Given the description of an element on the screen output the (x, y) to click on. 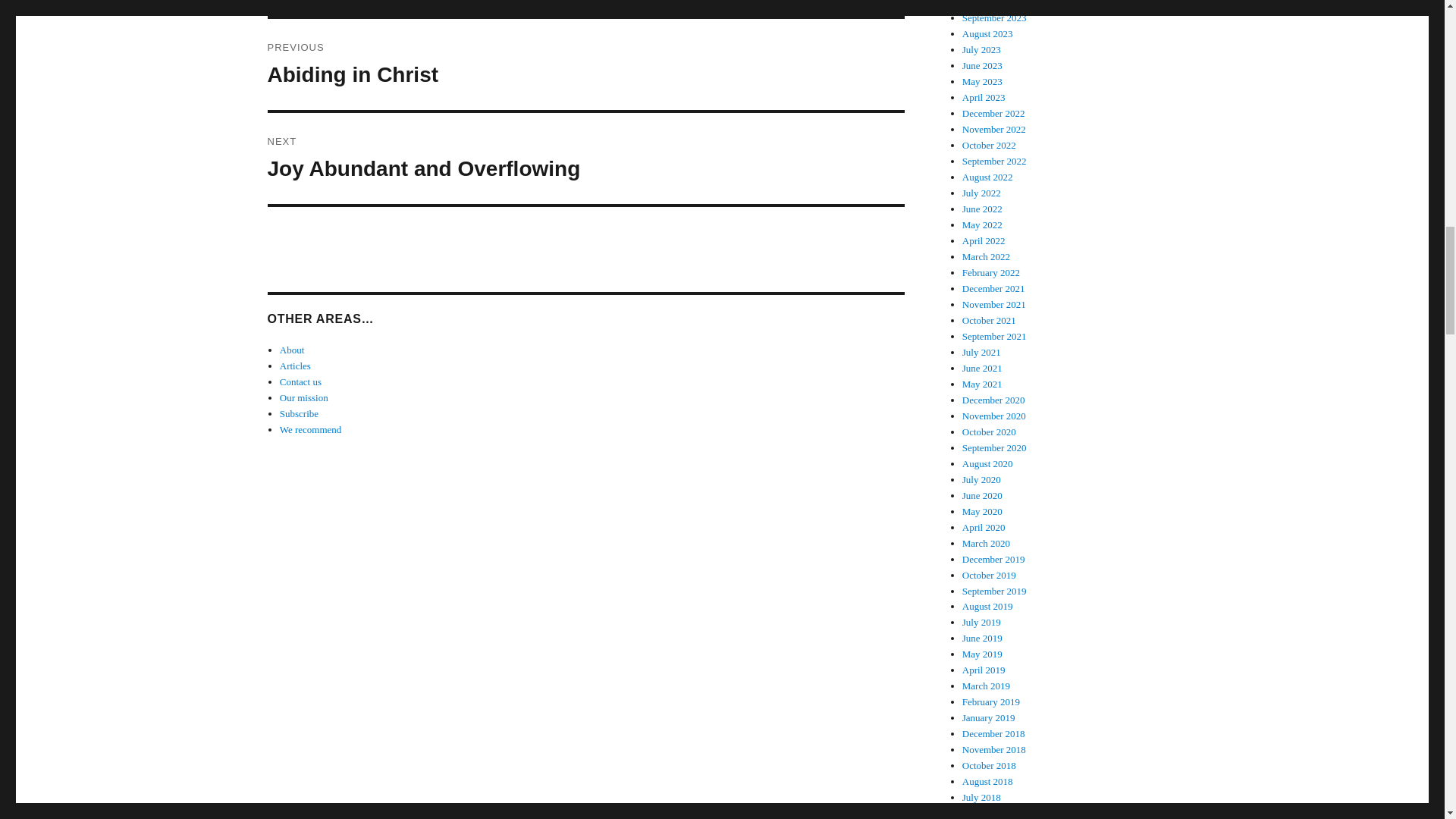
Subscribe (298, 413)
We recommend (585, 63)
Articles (310, 429)
About (295, 365)
Our mission (585, 158)
Contact us (291, 349)
